Given the description of an element on the screen output the (x, y) to click on. 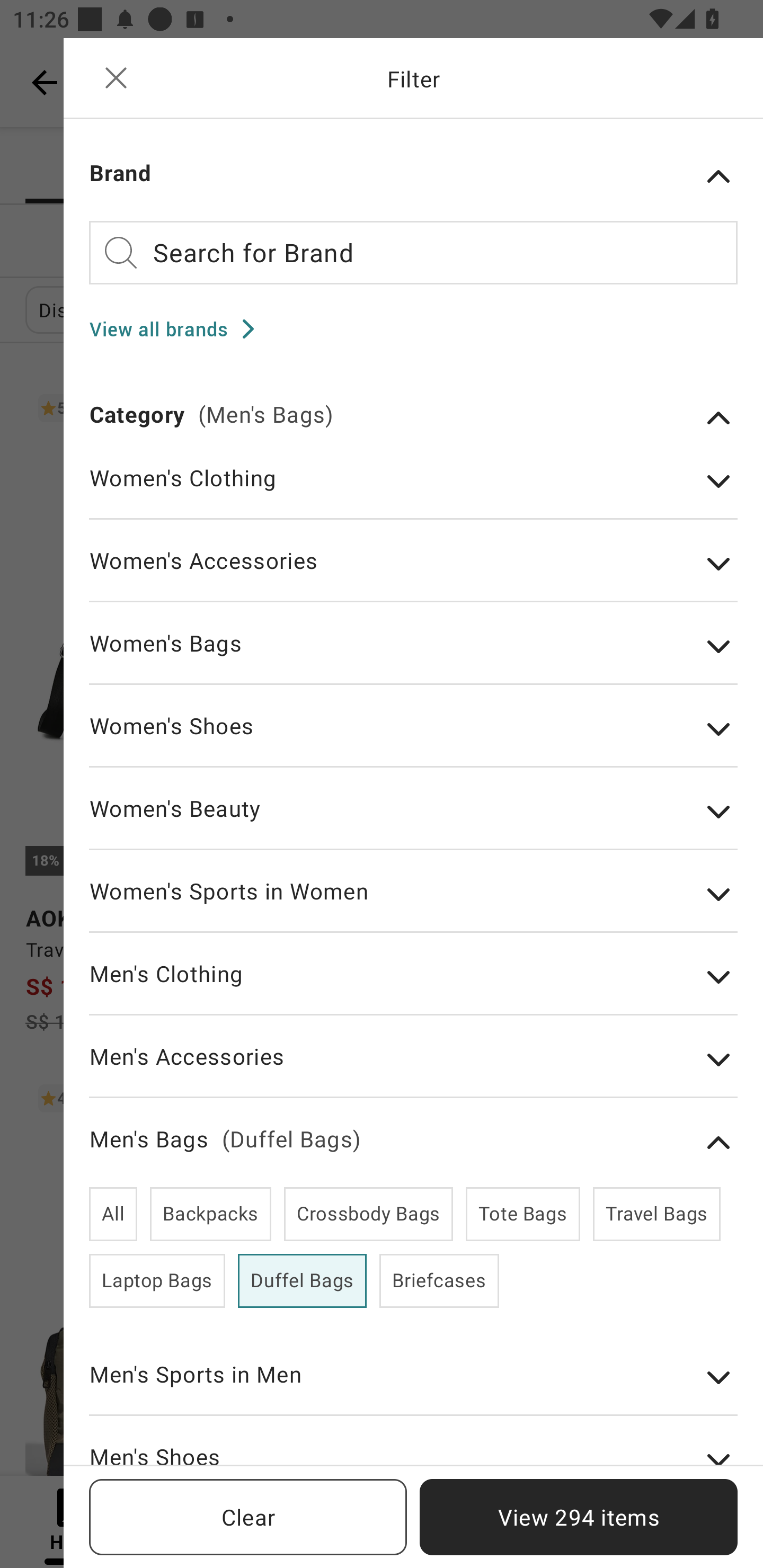
Brand (413, 176)
Search for Brand (413, 252)
View all brands (177, 328)
Category (Men's Bags) (413, 417)
Women's Clothing (413, 490)
Women's Accessories (413, 573)
Women's Bags (413, 656)
Women's Shoes (413, 739)
Women's Beauty (413, 821)
Women's Sports in Women (413, 903)
Men's Clothing (413, 987)
Men's Accessories (413, 1069)
Men's Bags (Duffel Bags) (413, 1142)
All (113, 1213)
Backpacks (210, 1213)
Crossbody Bags (368, 1213)
Tote Bags (522, 1213)
Travel Bags (656, 1213)
Laptop Bags (157, 1280)
Duffel Bags (302, 1280)
Briefcases (439, 1280)
Men's Sports in Men (413, 1387)
Men's Shoes (413, 1452)
Clear (247, 1516)
View 294 items (578, 1516)
